Given the description of an element on the screen output the (x, y) to click on. 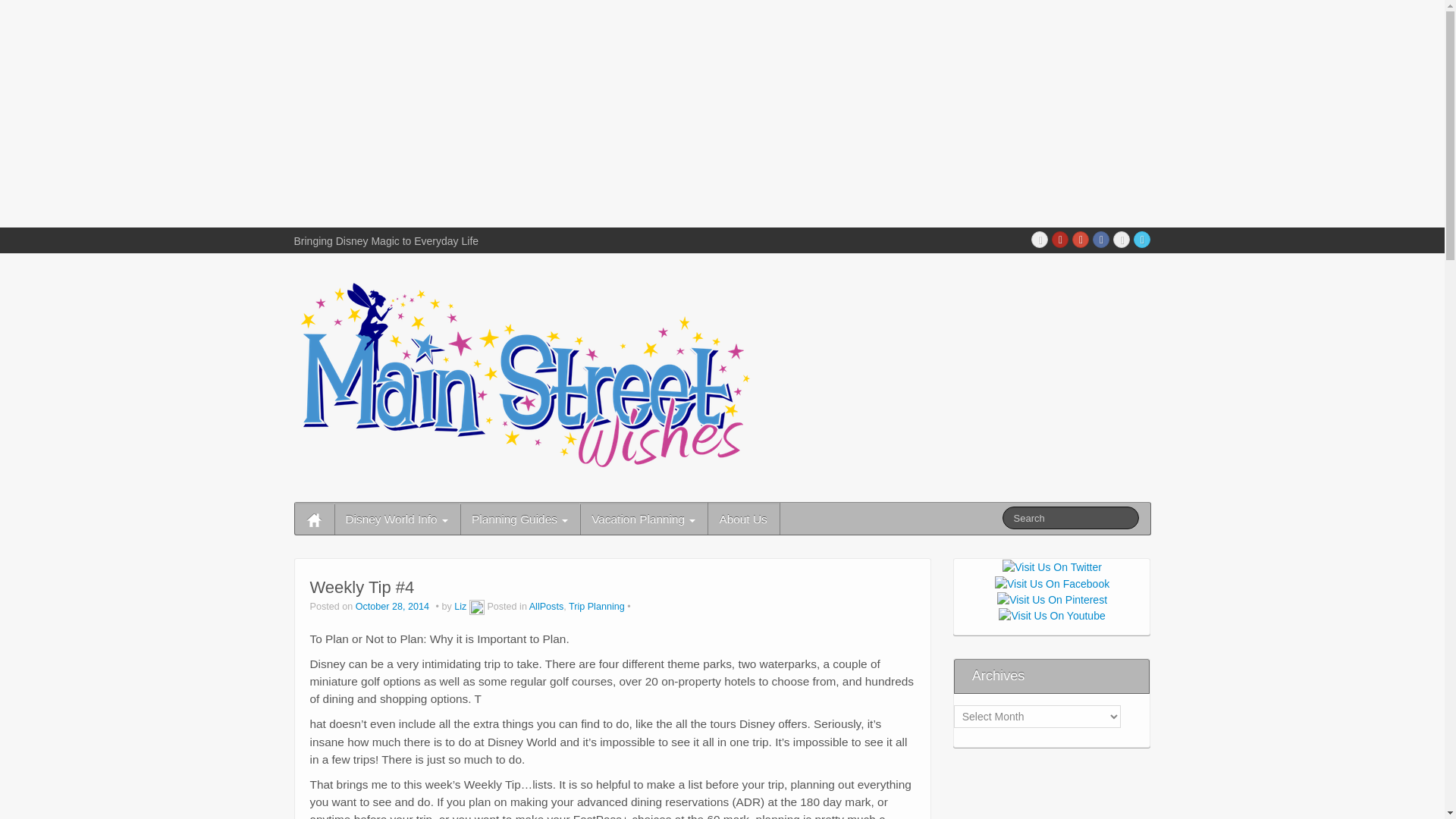
Main Street Wishes Twitter (1142, 239)
Visit Us On Pinterest (1050, 598)
Main Street Wishes Vimeo (1121, 239)
Main Street Wishes Googleplus (1080, 239)
Disney World Info (395, 518)
Visit Us On Youtube (1051, 614)
7:47 pm (393, 606)
Planning Guides (519, 518)
View all posts by Liz (476, 606)
